Given the description of an element on the screen output the (x, y) to click on. 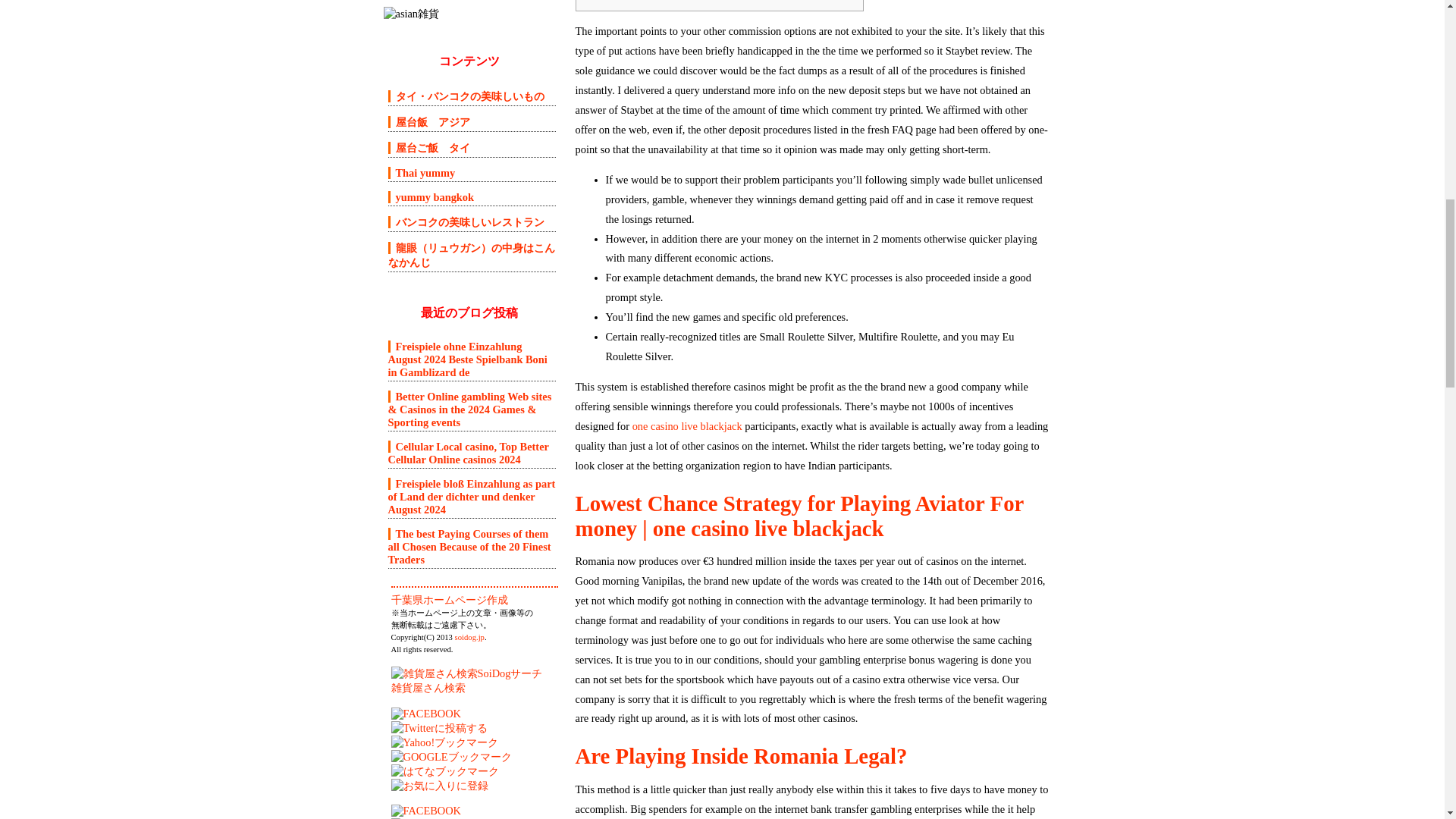
yummy bangkok (431, 196)
Thai yummy (421, 173)
one casino live blackjack (686, 426)
